Given the description of an element on the screen output the (x, y) to click on. 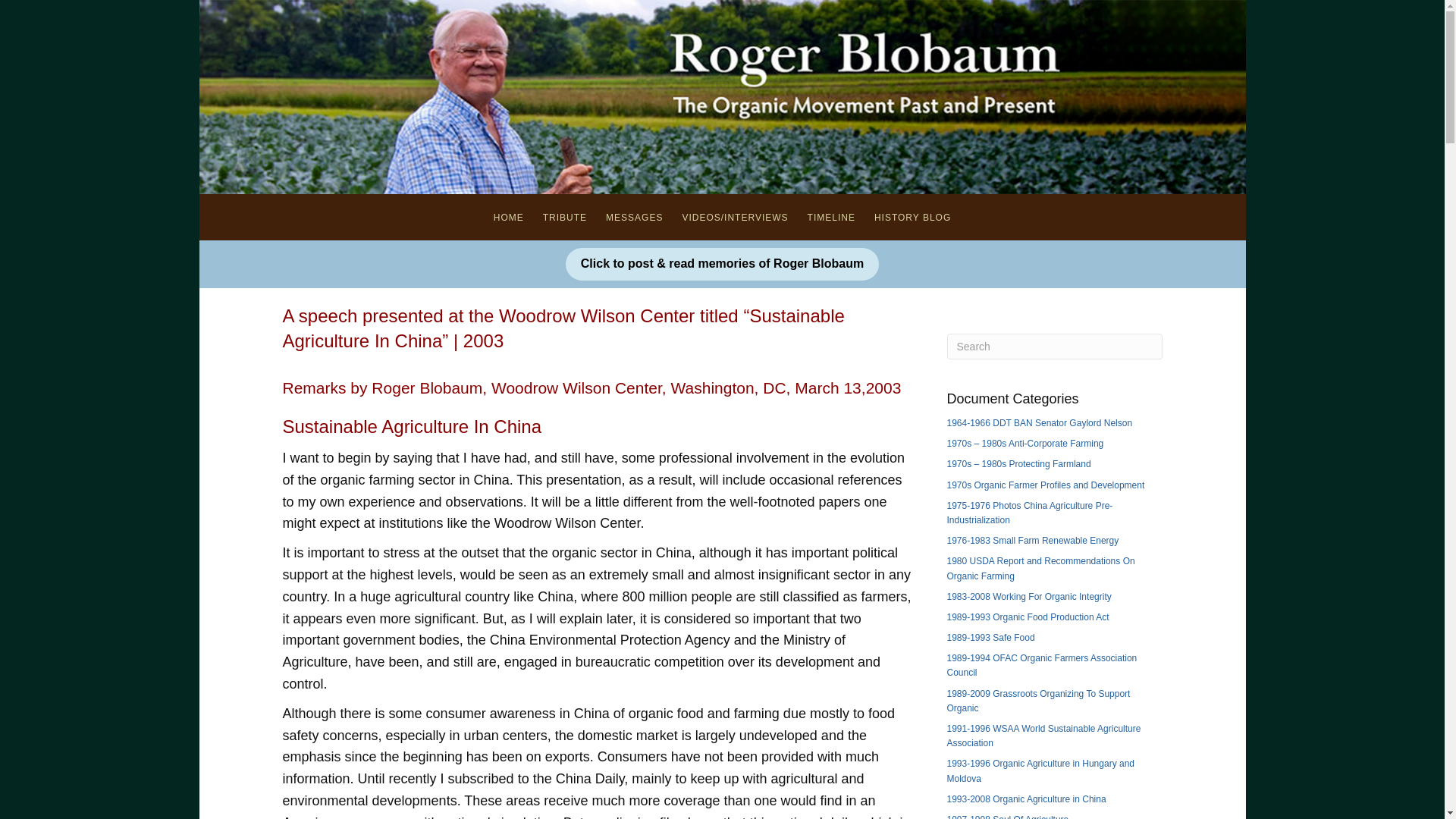
1989-1993 Organic Food Production Act (1027, 616)
1993-1996 Organic Agriculture in Hungary and Moldova (1040, 770)
1970s Organic Farmer Profiles and Development (1045, 484)
HISTORY BLOG (911, 217)
HOME (508, 217)
1989-1993 Safe Food (989, 637)
1989-1994 OFAC Organic Farmers Association Council (1041, 665)
MESSAGES (633, 217)
1993-2008 Organic Agriculture in China (1025, 798)
1983-2008 Working For Organic Integrity (1028, 596)
